Given the description of an element on the screen output the (x, y) to click on. 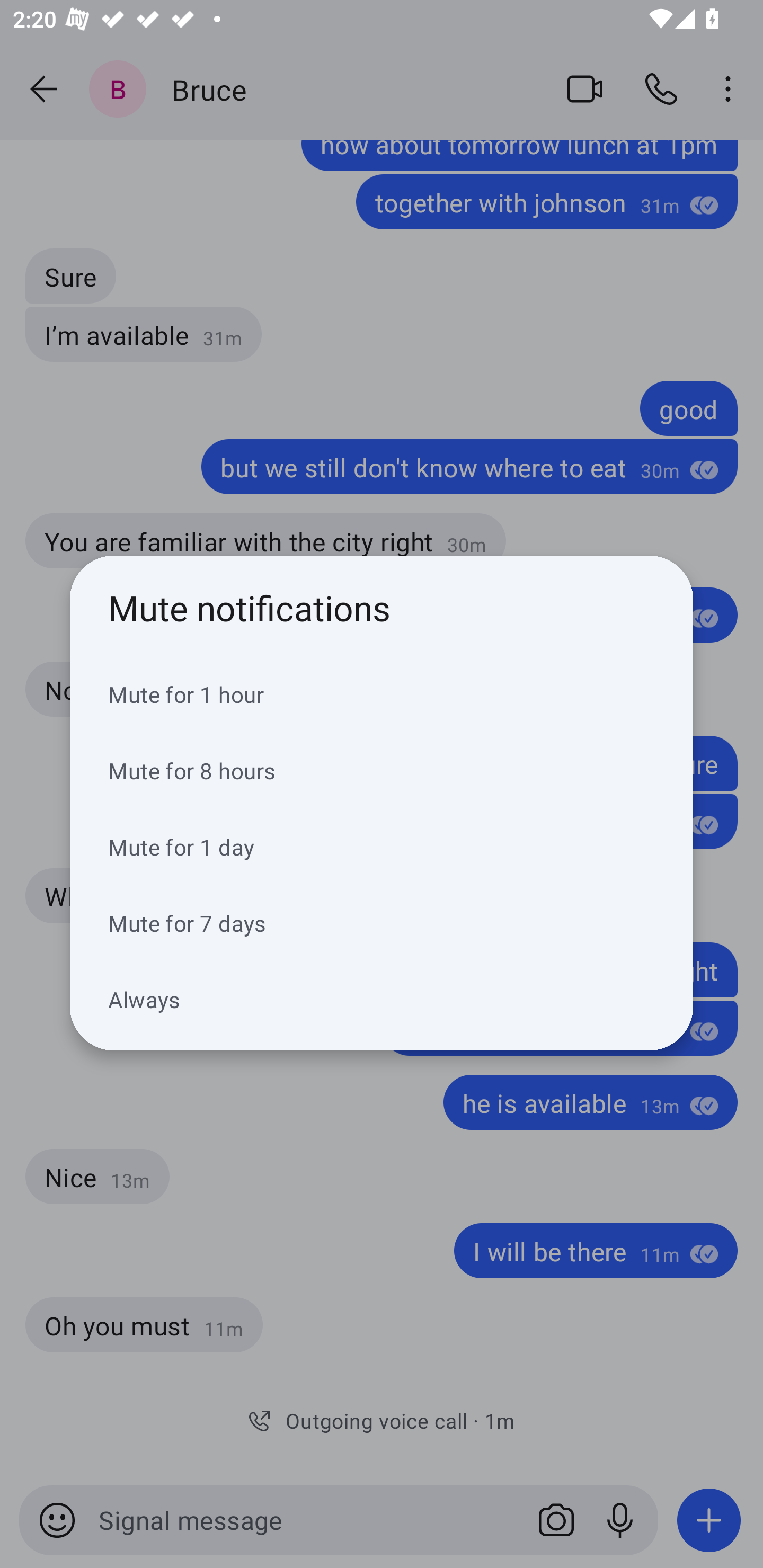
Mute for 1 hour (381, 694)
